Given the description of an element on the screen output the (x, y) to click on. 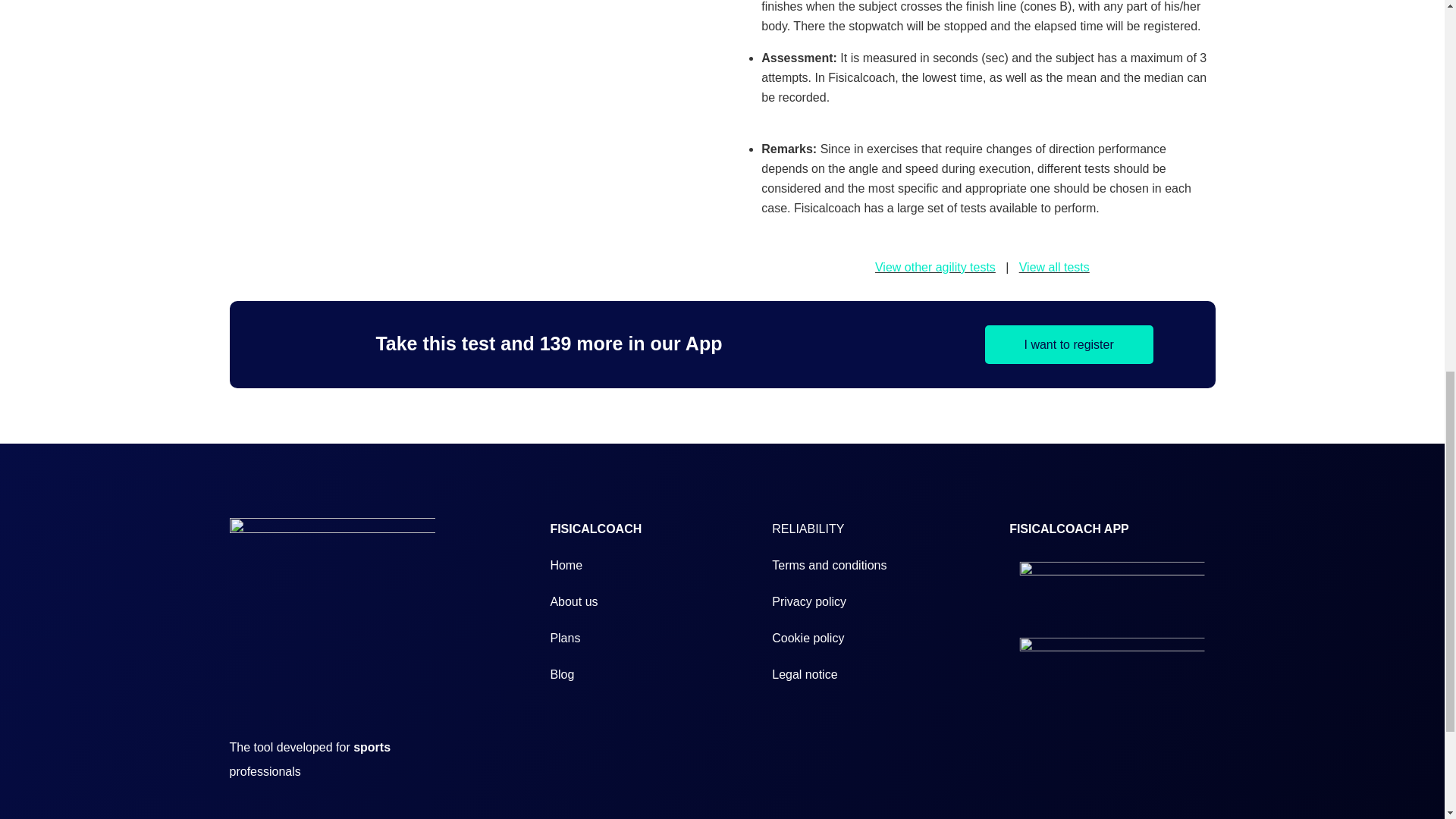
Blog (561, 674)
Home (566, 564)
Descargar en App Store (1122, 666)
Legal notice (804, 674)
Privacy policy (808, 601)
Terms and conditions (828, 564)
Plans (564, 637)
View other agility tests (935, 267)
About us (573, 601)
I want to register (1069, 344)
